Given the description of an element on the screen output the (x, y) to click on. 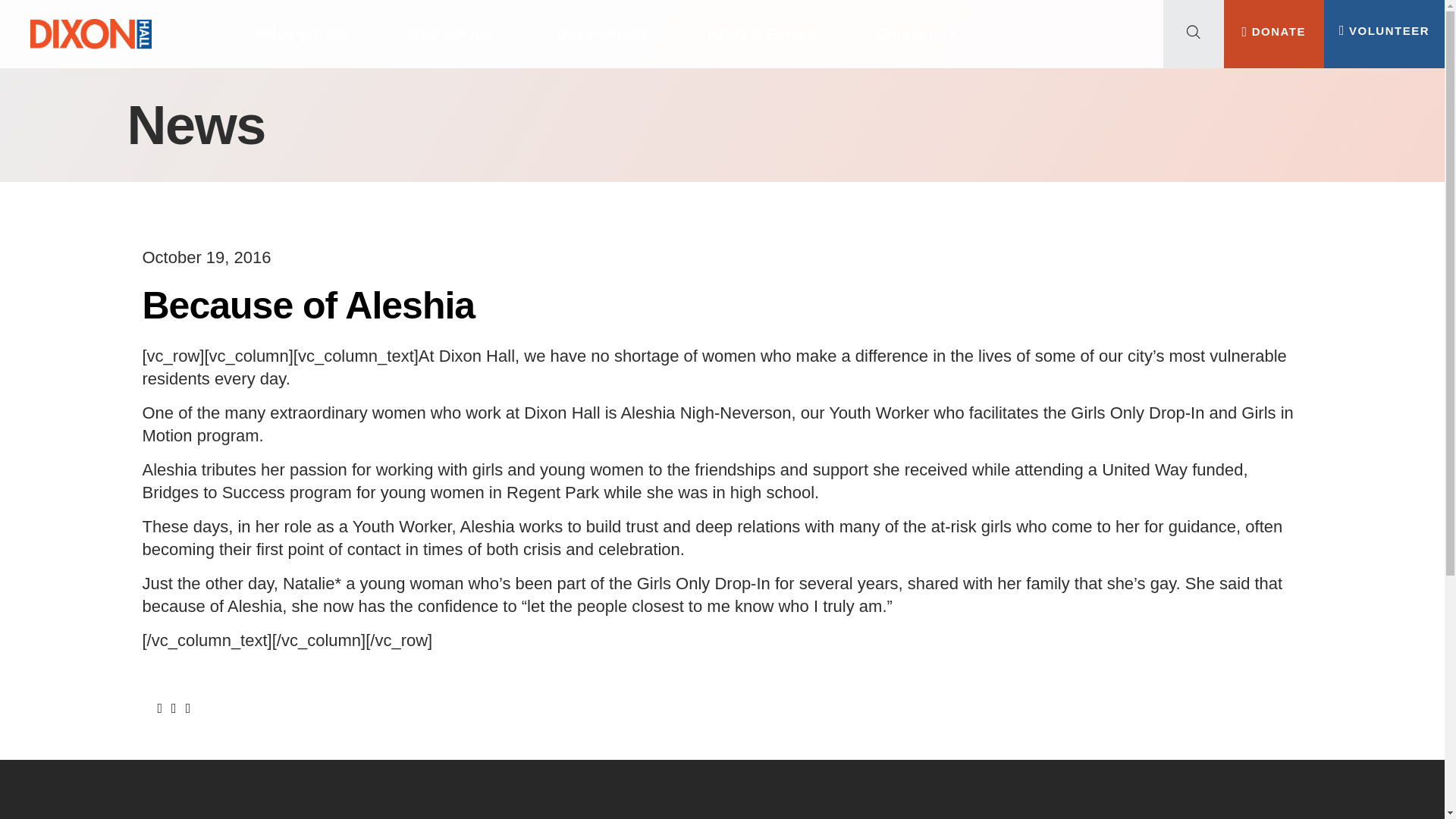
What We Do (301, 33)
VOLUNTEER (1384, 29)
Search (140, 91)
Contact Us (916, 33)
Who We Are (450, 33)
DONATE (1273, 30)
Get Involved (601, 33)
